Given the description of an element on the screen output the (x, y) to click on. 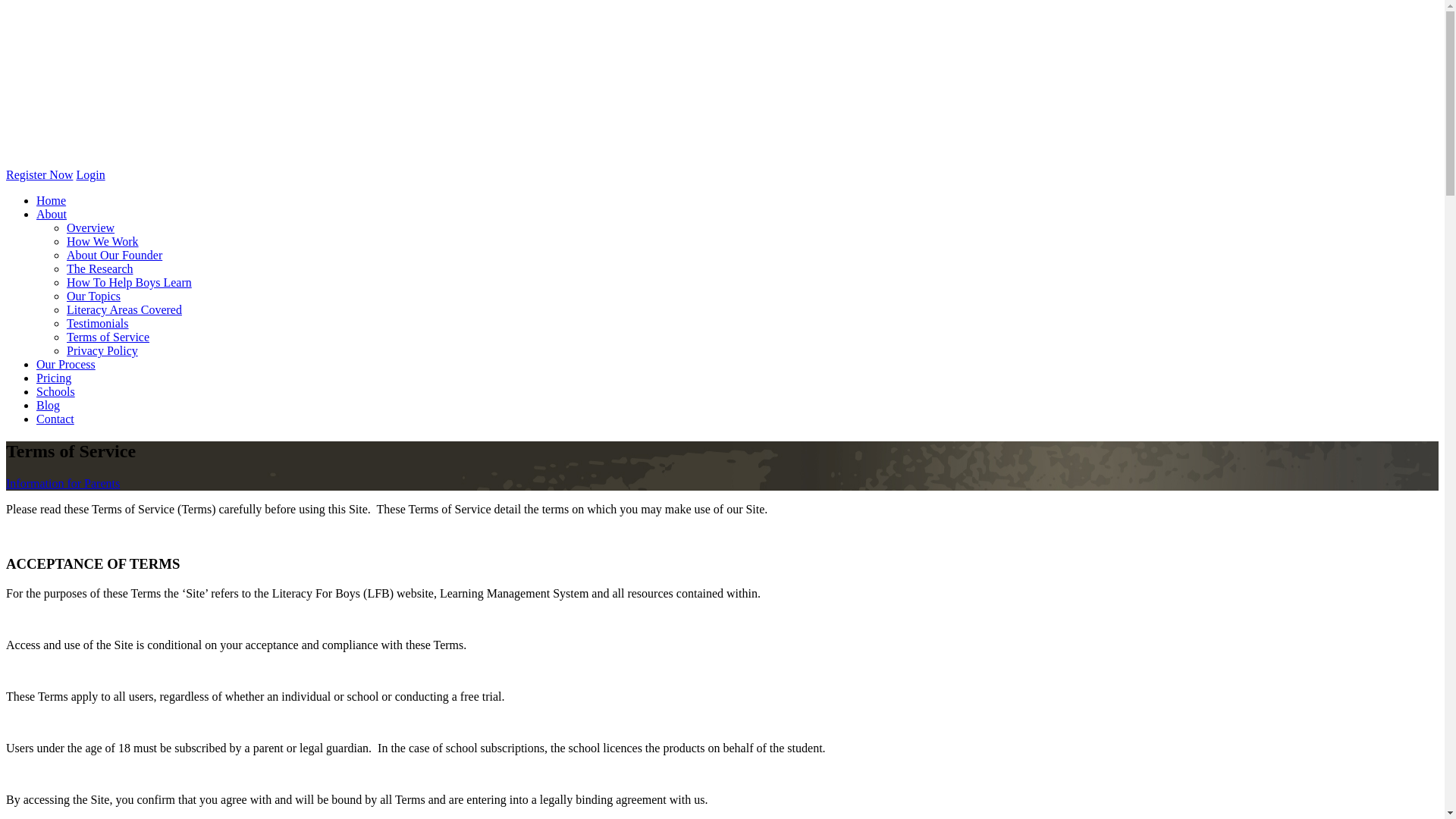
Login Element type: text (89, 174)
Testimonials Element type: text (97, 322)
How To Help Boys Learn Element type: text (128, 282)
About Our Founder Element type: text (114, 254)
How We Work Element type: text (102, 241)
Register Now Element type: text (39, 174)
Literacy For Boys Element type: hover (138, 142)
Home Element type: text (50, 200)
Our Topics Element type: text (93, 295)
About Element type: text (51, 213)
Contact Element type: text (55, 418)
The Research Element type: text (99, 268)
Our Process Element type: text (65, 363)
Overview Element type: text (90, 227)
Schools Element type: text (55, 391)
Privacy Policy Element type: text (102, 350)
Terms of Service Element type: text (107, 336)
Information for Parents Element type: text (62, 482)
Literacy Areas Covered Element type: text (124, 309)
Pricing Element type: text (53, 377)
Blog Element type: text (47, 404)
